Given the description of an element on the screen output the (x, y) to click on. 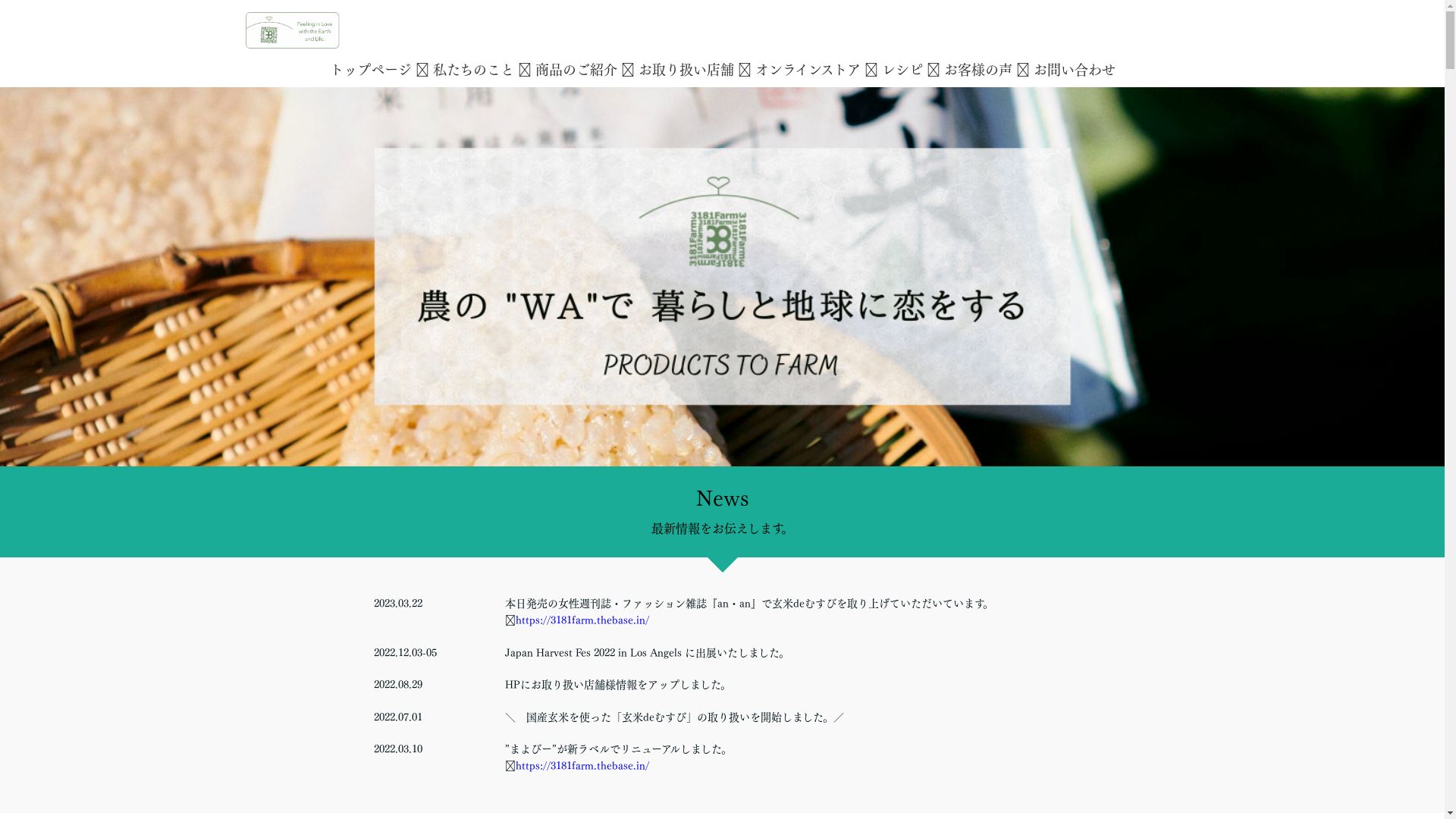
https://3181farm.thebase.in/ Element type: text (582, 620)
https://3181farm.thebase.in/ Element type: text (582, 765)
